Given the description of an element on the screen output the (x, y) to click on. 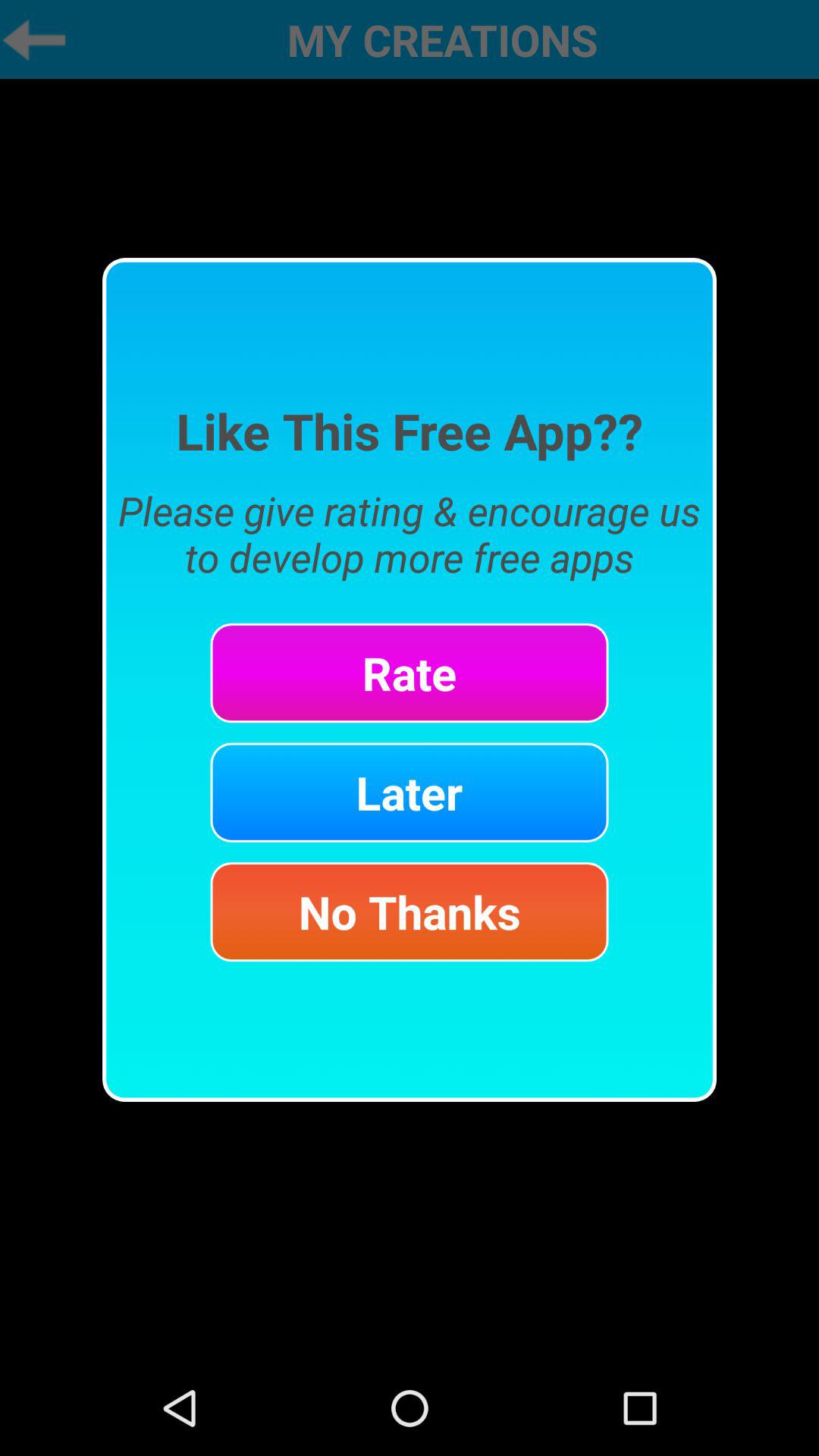
turn on item above no thanks item (409, 792)
